Given the description of an element on the screen output the (x, y) to click on. 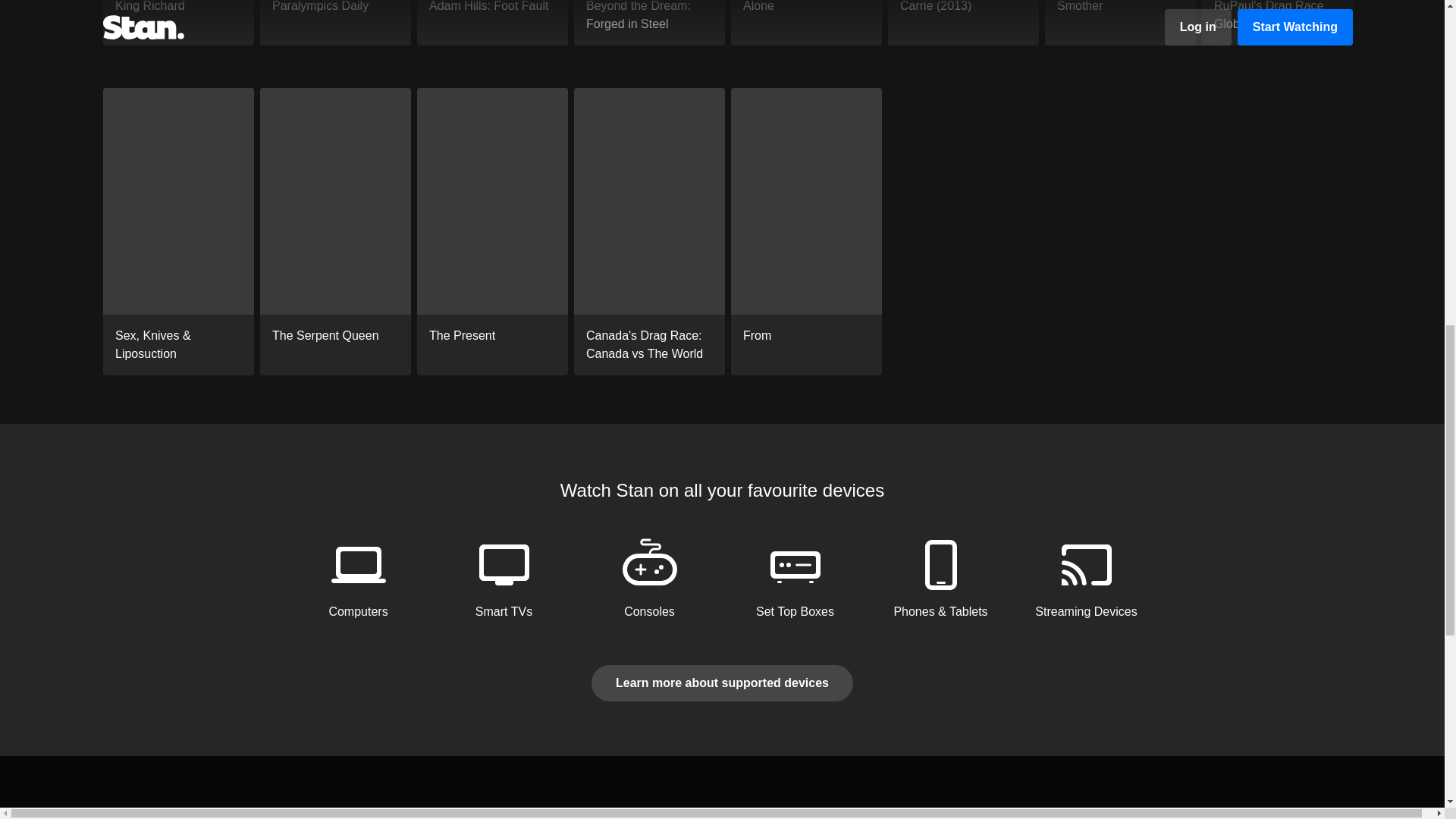
Beyond the Dream: Forged in Steel (649, 22)
Alone (806, 22)
Browse Stan (133, 812)
Smother (1120, 22)
Learn more about supported devices (722, 682)
RuPaul's Drag Race Global All Stars (1277, 22)
Adam Hills: Foot Fault (491, 22)
Paralympics Daily (335, 22)
King Richard (178, 22)
